Given the description of an element on the screen output the (x, y) to click on. 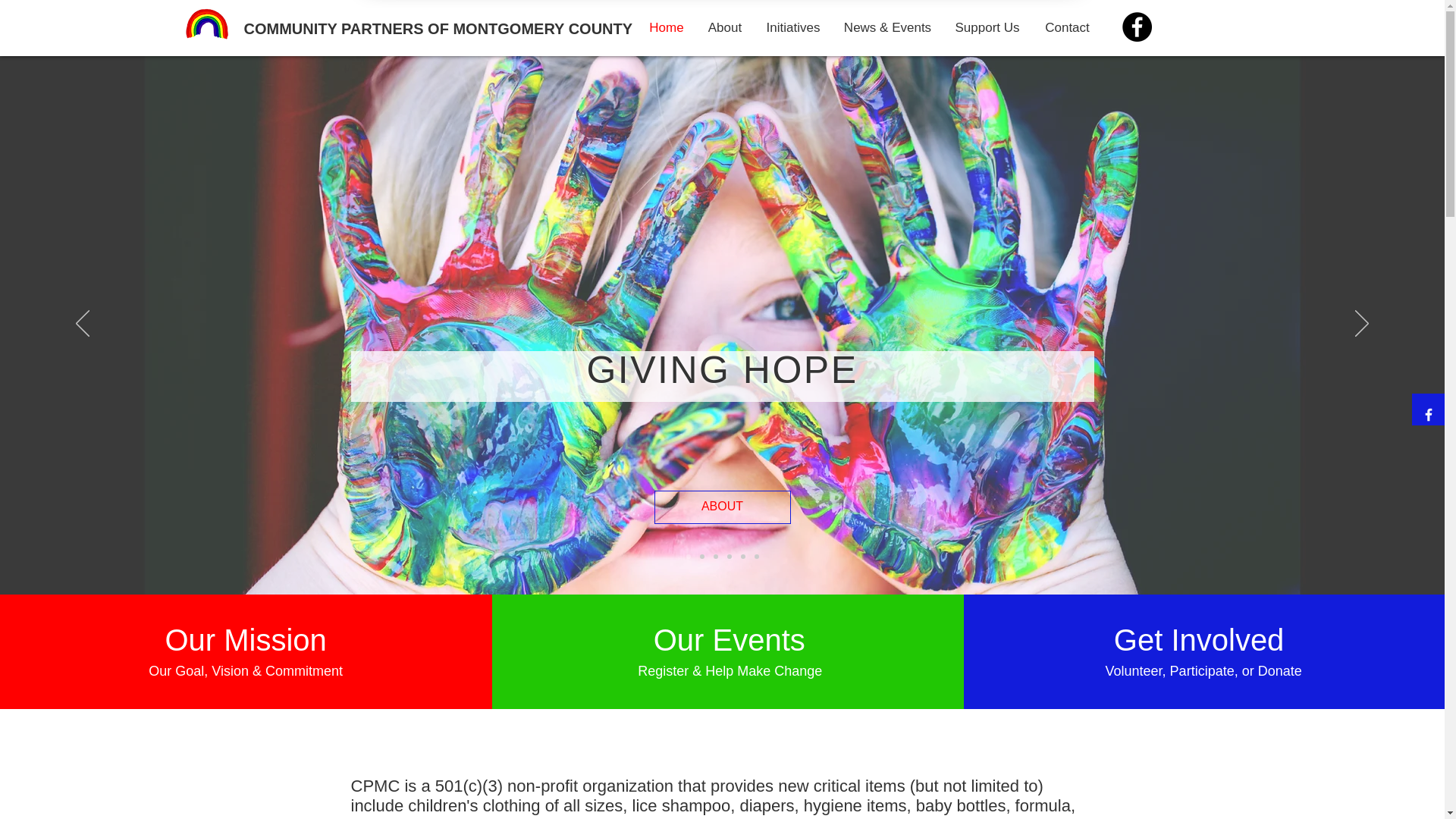
Get Involved  (1202, 639)
About (724, 27)
Our Events (729, 639)
ABOUT (721, 506)
Contact (1066, 27)
COMMUNITY PARTNERS OF MONTGOMERY COUNTY (438, 28)
Home (666, 27)
Initiatives (792, 27)
Our Mission (245, 639)
Support Us (987, 27)
